Given the description of an element on the screen output the (x, y) to click on. 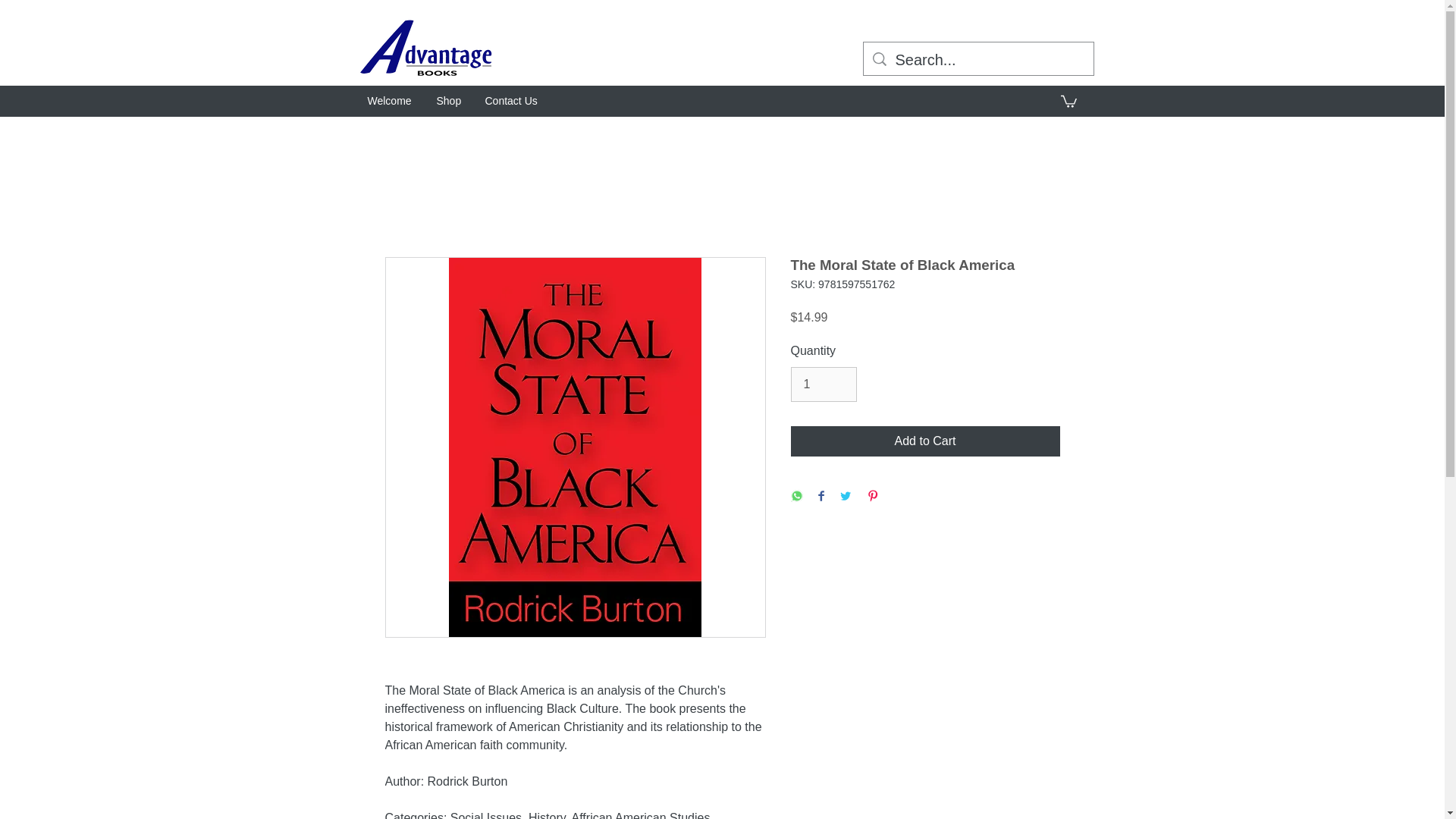
Welcome (390, 100)
Shop (449, 100)
Contact Us (511, 100)
1 (823, 384)
Add to Cart (924, 440)
